Given the description of an element on the screen output the (x, y) to click on. 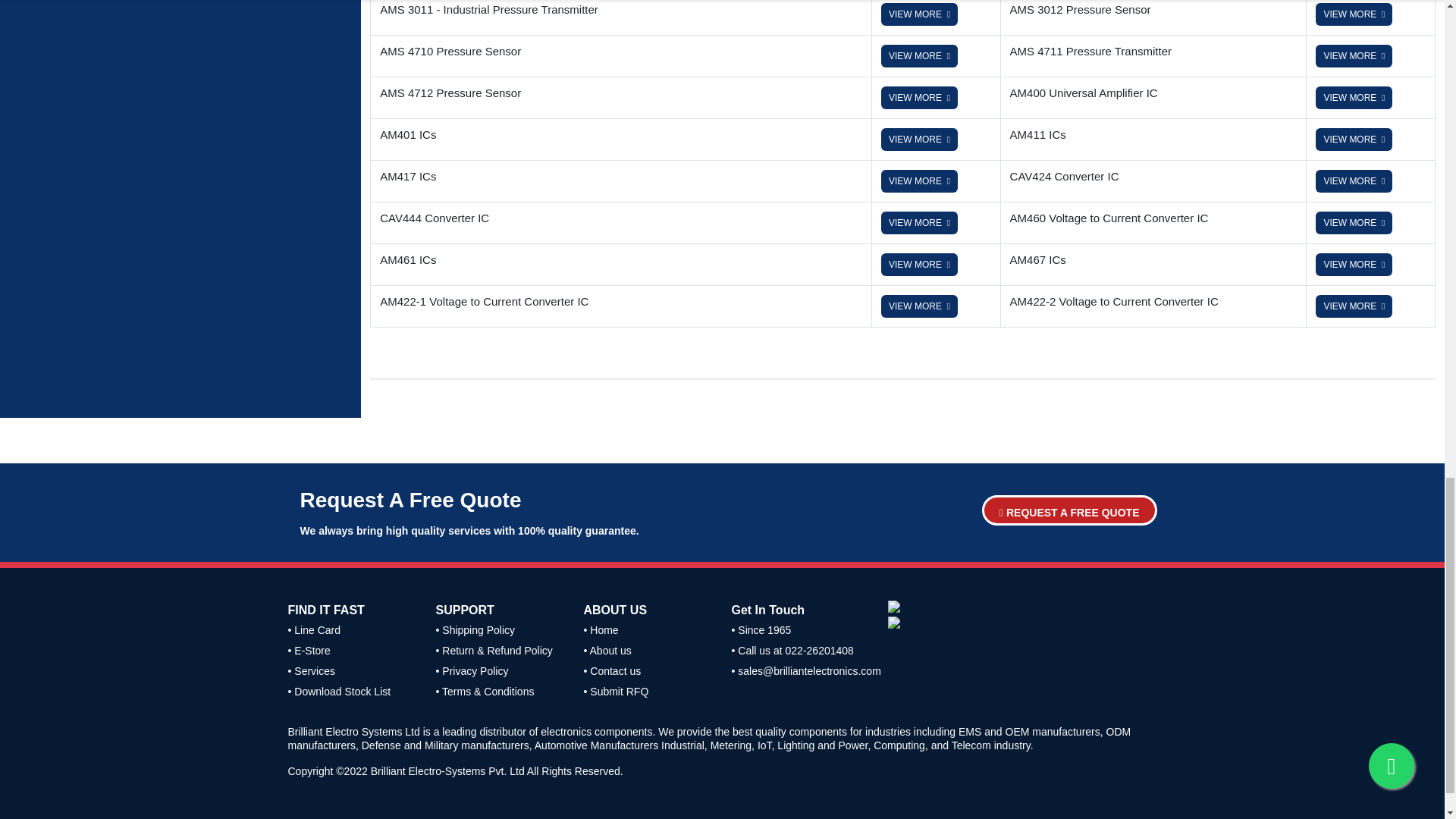
Tradeshow (484, 691)
How IT Works (471, 671)
Contact Us (475, 630)
